Given the description of an element on the screen output the (x, y) to click on. 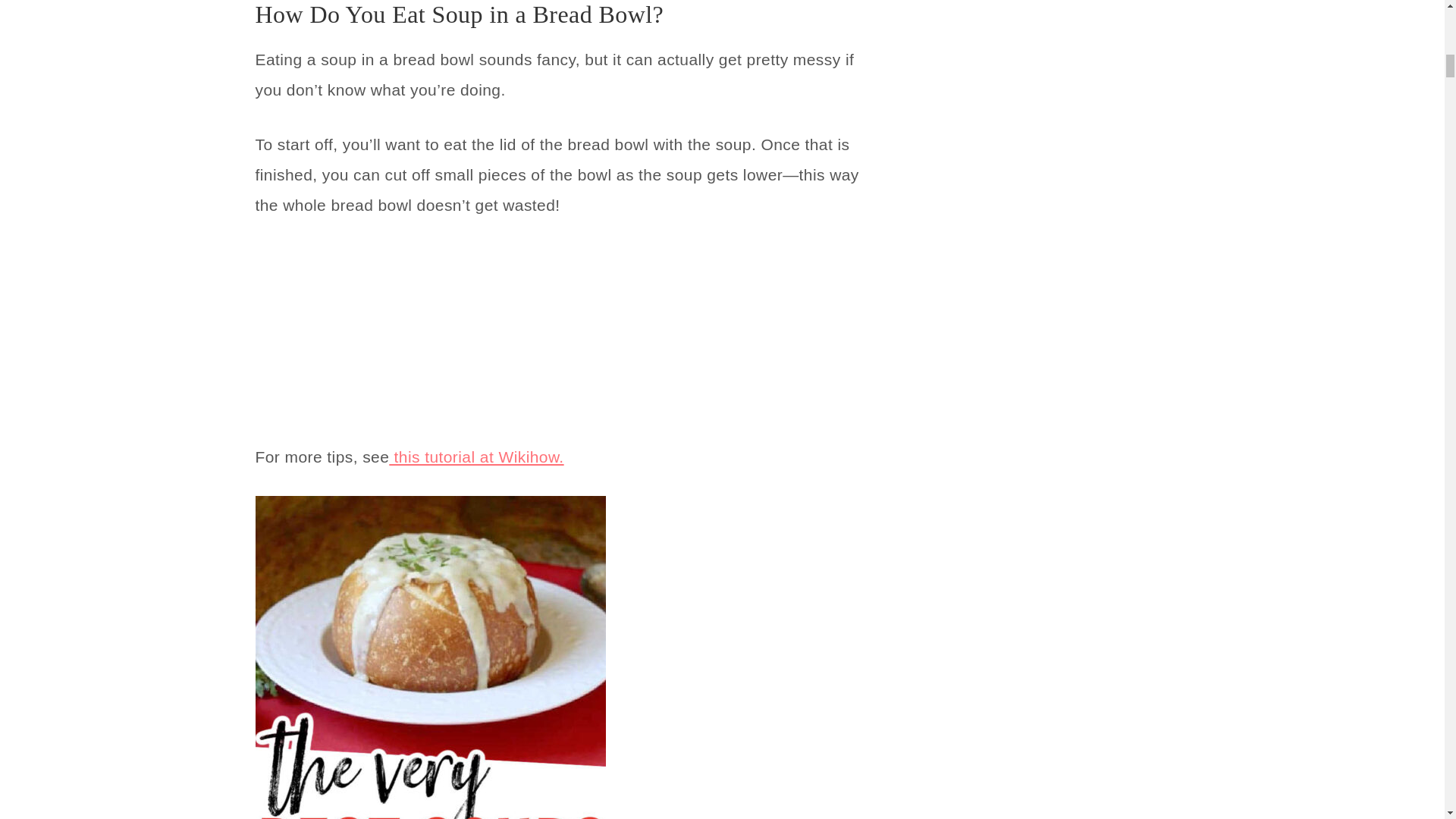
this tutorial at Wikihow. (475, 456)
